Given the description of an element on the screen output the (x, y) to click on. 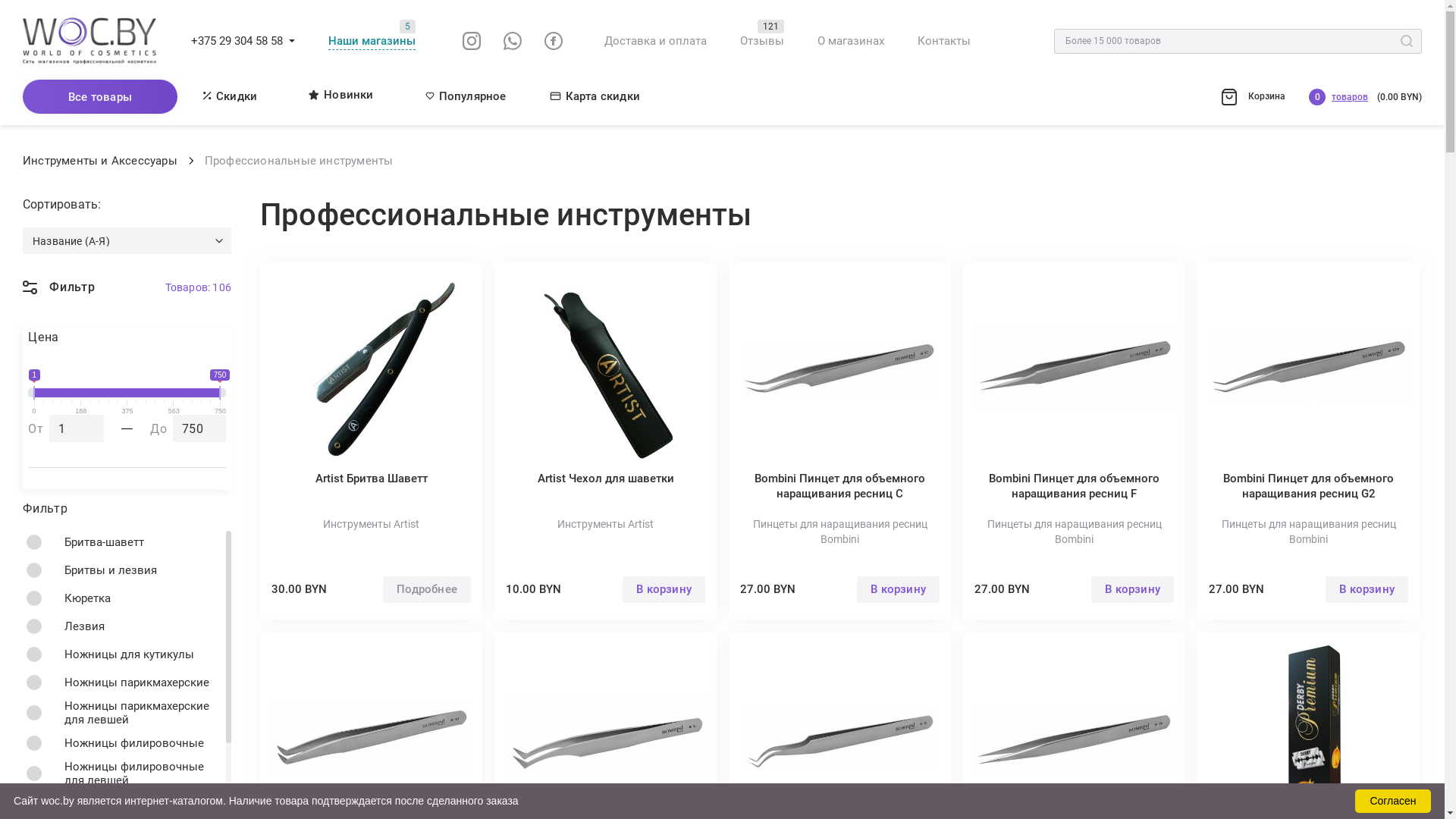
+375 29 304 58 58 Element type: text (236, 40)
